Given the description of an element on the screen output the (x, y) to click on. 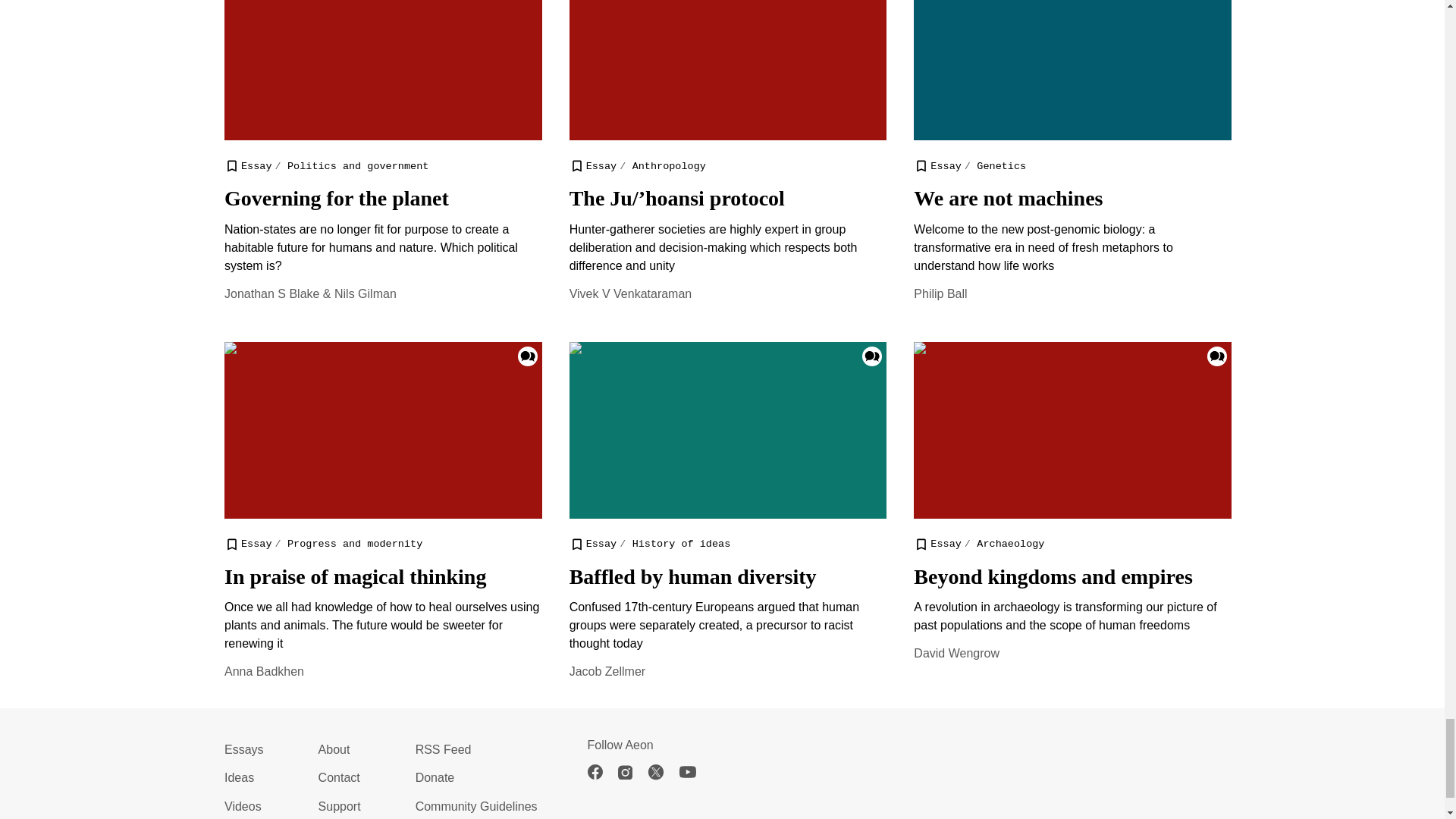
YouTube (695, 771)
Instagram (632, 771)
Facebook (602, 771)
